Given the description of an element on the screen output the (x, y) to click on. 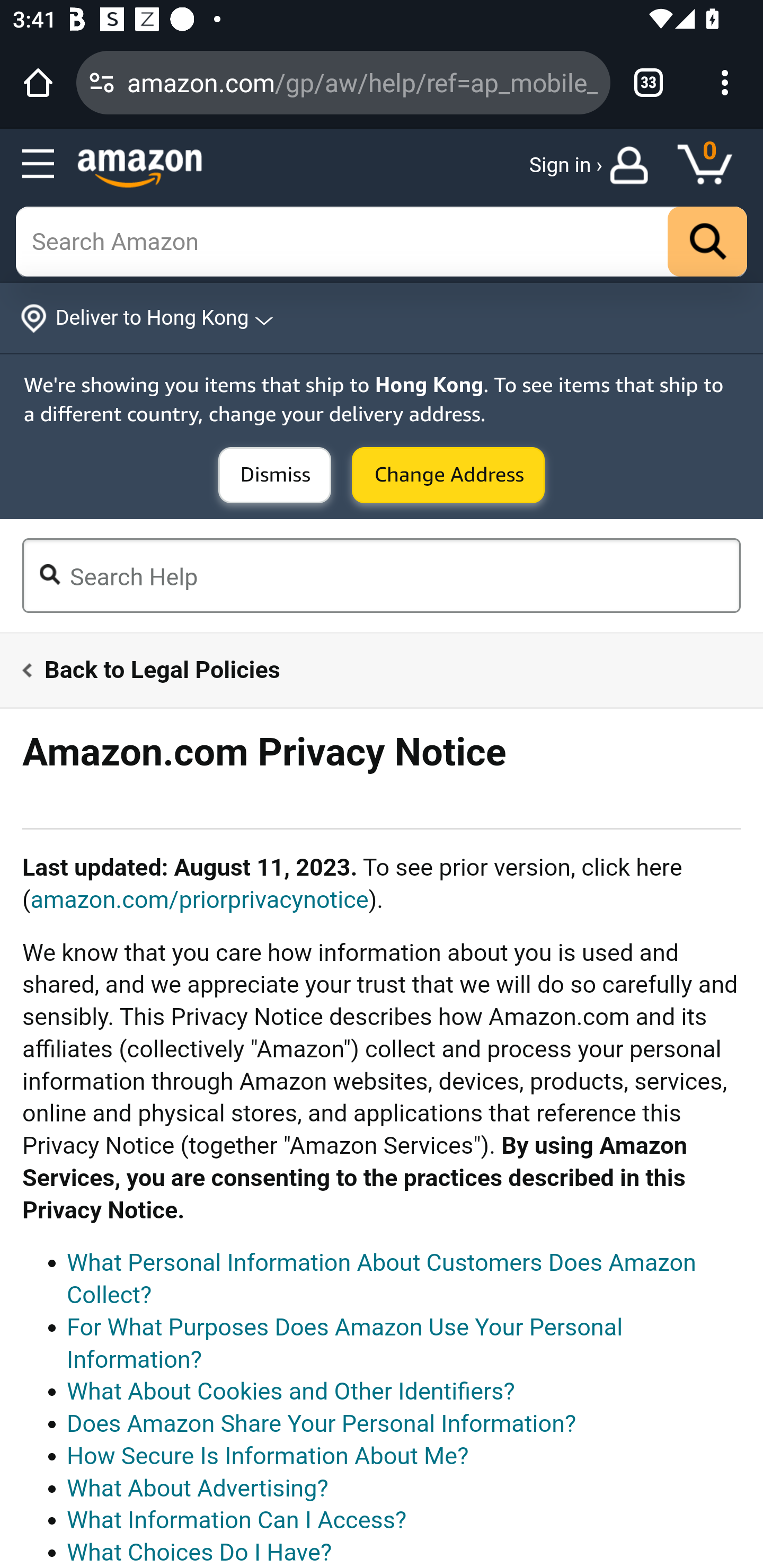
Open the home page (38, 82)
Connection is secure (101, 82)
Switch or close tabs (648, 82)
Customize and control Google Chrome (724, 82)
Open Menu (38, 164)
Sign in › (564, 165)
your account (633, 165)
Cart 0 (713, 165)
Amazon (139, 169)
Go (706, 240)
Submit (274, 474)
Submit (447, 474)
Back to Legal Policies (370, 668)
amazon.com/priorprivacynotice (199, 899)
What About Cookies and Other Identifiers? (291, 1391)
Does Amazon Share Your Personal Information? (321, 1423)
How Secure Is Information About Me? (268, 1455)
What About Advertising? (197, 1488)
What Information Can I Access? (236, 1520)
What Choices Do I Have? (199, 1552)
